Given the description of an element on the screen output the (x, y) to click on. 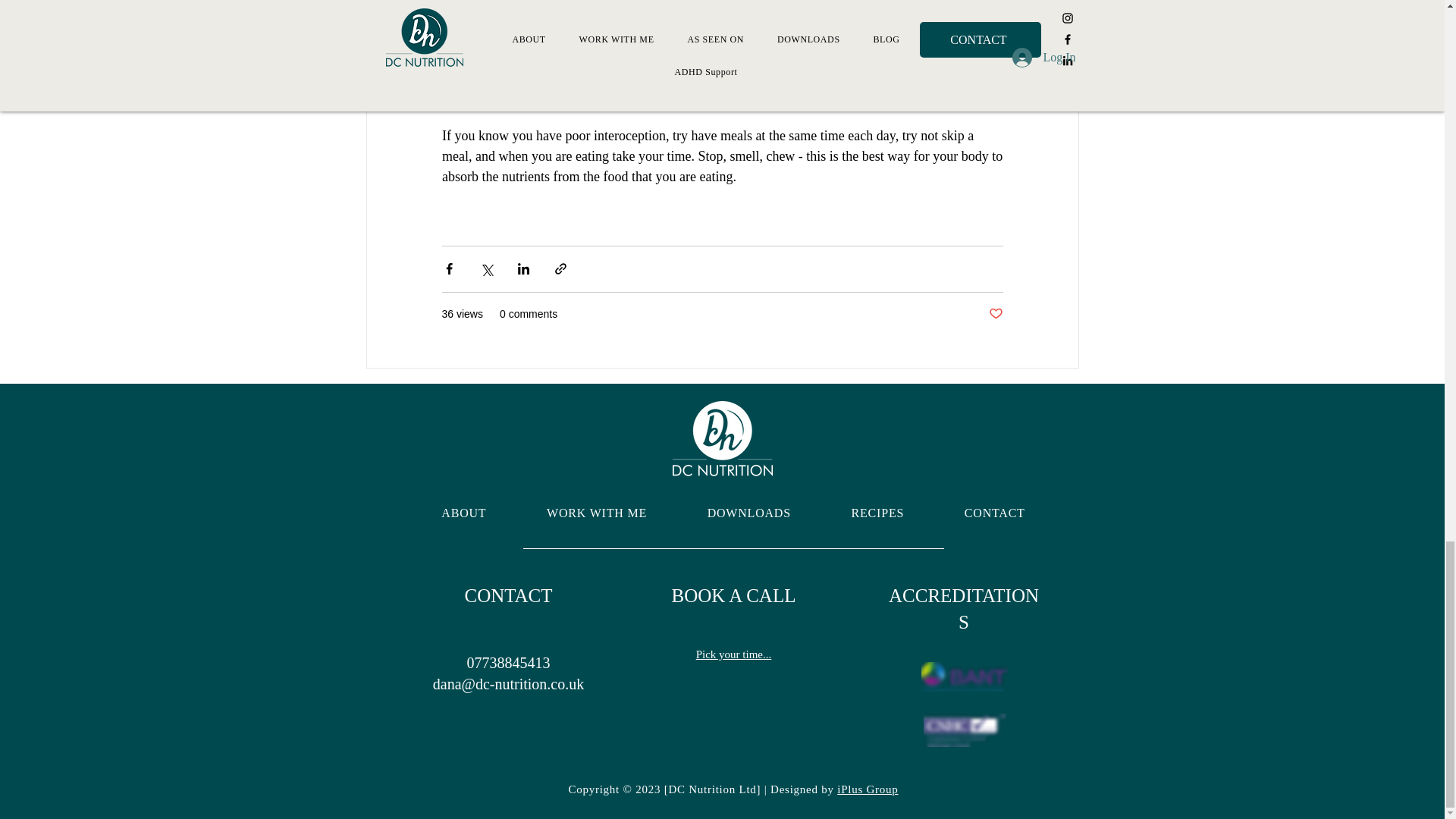
CONTACT (994, 512)
iPlus Group (867, 788)
CNHC.png (964, 729)
WORK WITH ME (596, 512)
ABOUT (463, 512)
Pick your time... (733, 654)
Post not marked as liked (995, 314)
DOWNLOADS (748, 512)
